Given the description of an element on the screen output the (x, y) to click on. 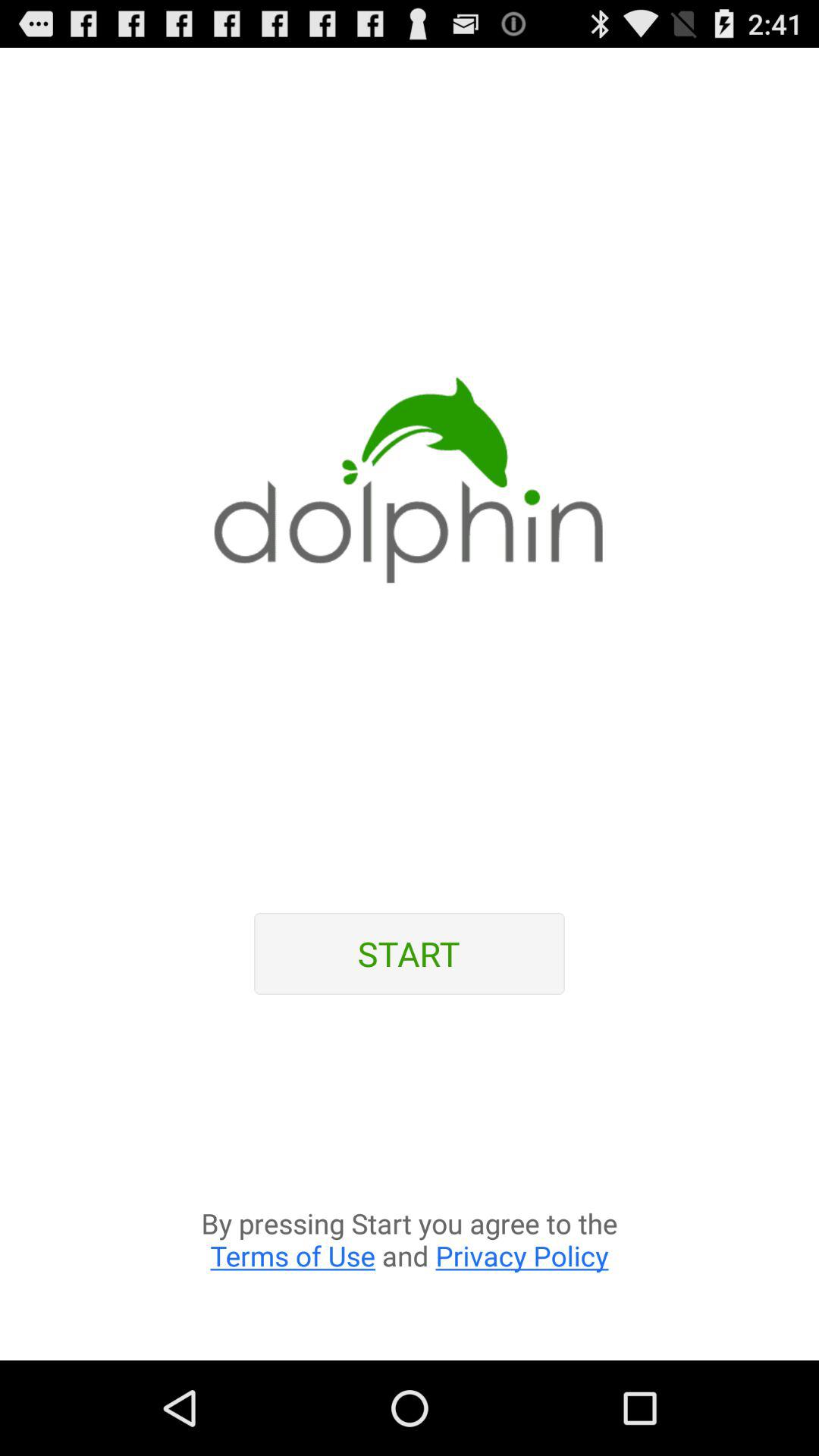
launch the app at the bottom (409, 1186)
